Given the description of an element on the screen output the (x, y) to click on. 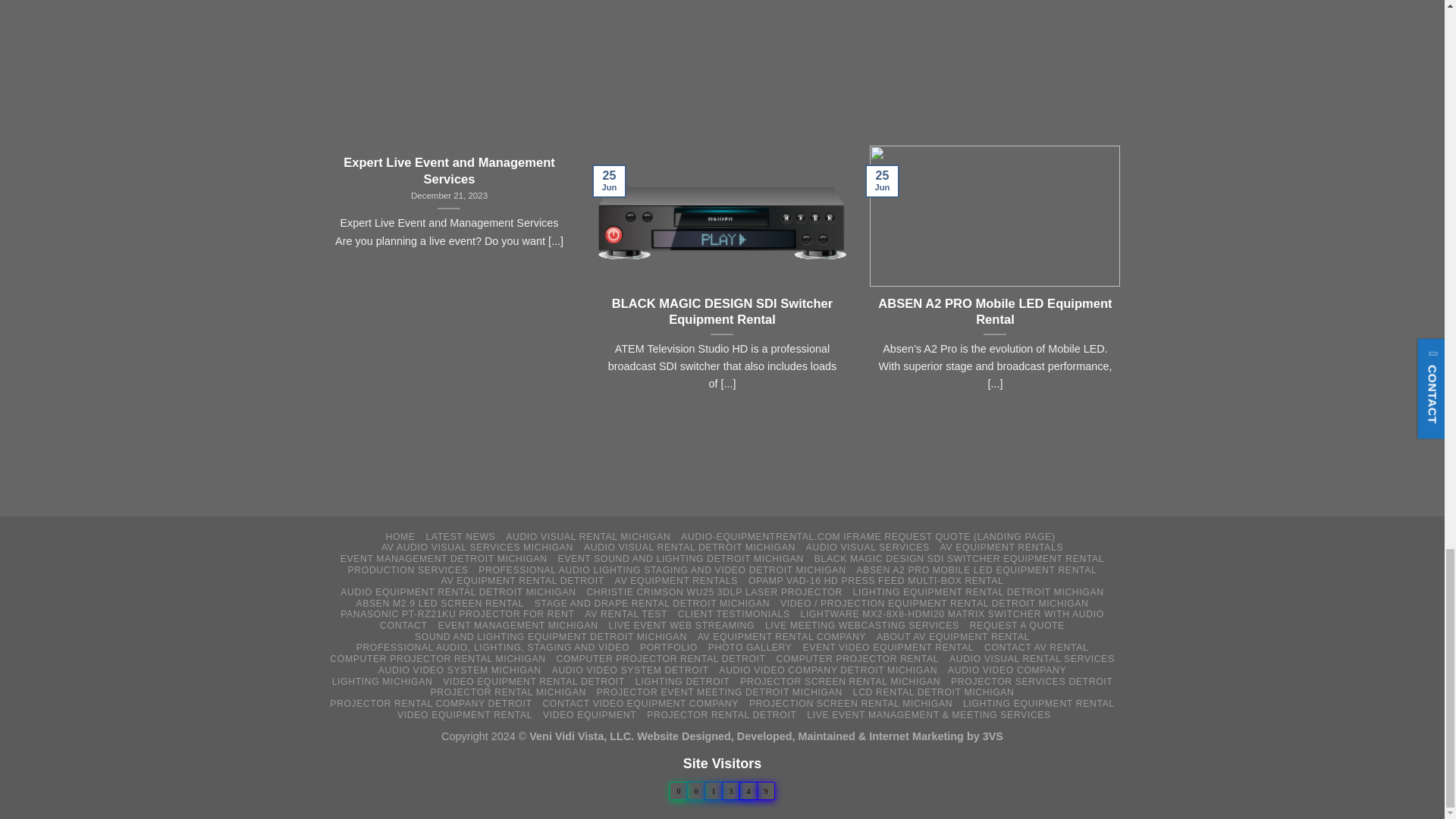
Website Design Company Michigan (717, 736)
